Given the description of an element on the screen output the (x, y) to click on. 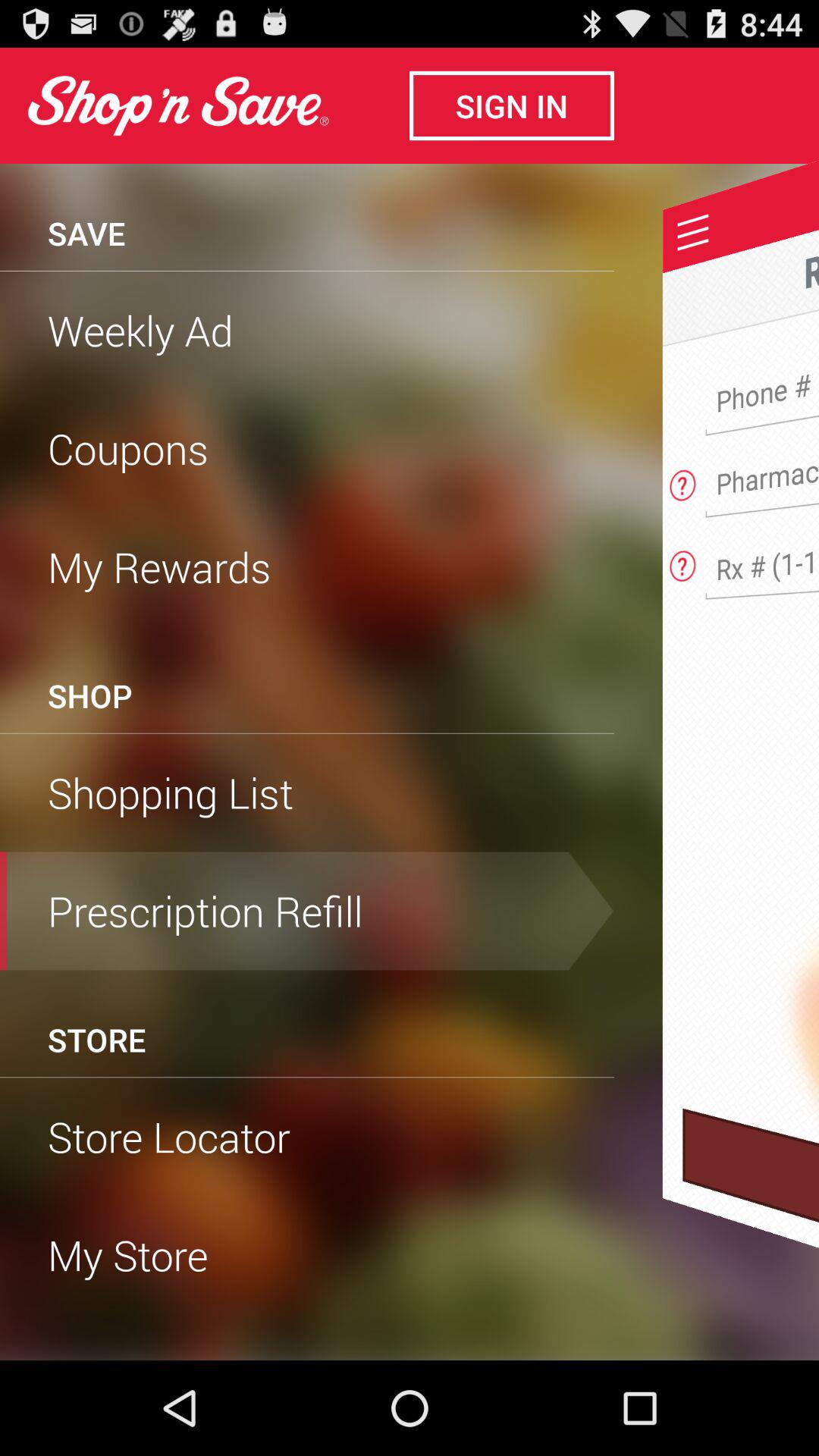
choose the icon below weekly ad (307, 448)
